Given the description of an element on the screen output the (x, y) to click on. 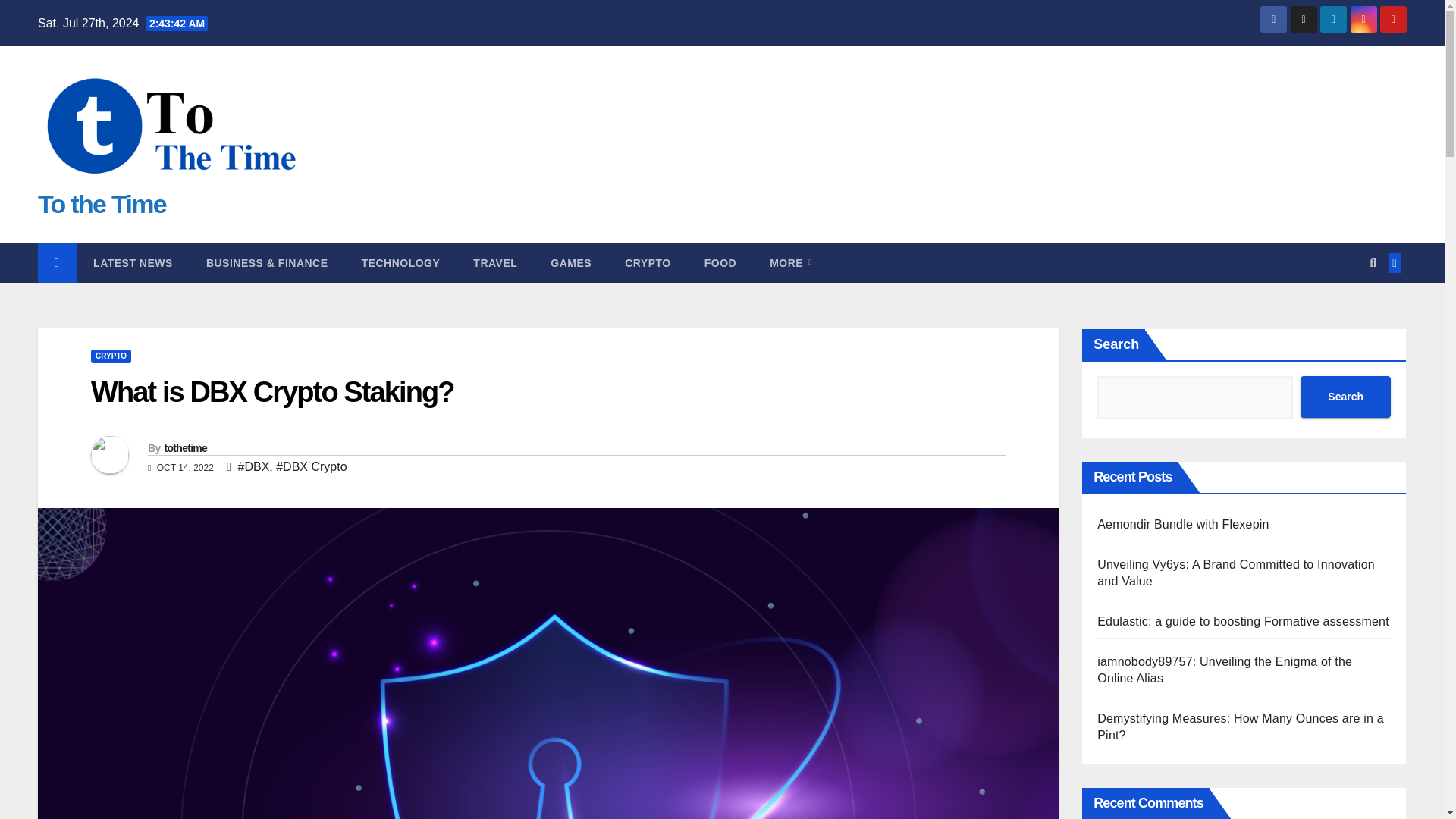
What is DBX Crypto Staking? (272, 391)
Latest News (133, 262)
GAMES (571, 262)
More (790, 262)
tothetime (184, 448)
MORE (790, 262)
Travel (495, 262)
TECHNOLOGY (401, 262)
TRAVEL (495, 262)
Technology (401, 262)
Crypto (647, 262)
Games (571, 262)
CRYPTO (647, 262)
FOOD (719, 262)
LATEST NEWS (133, 262)
